Given the description of an element on the screen output the (x, y) to click on. 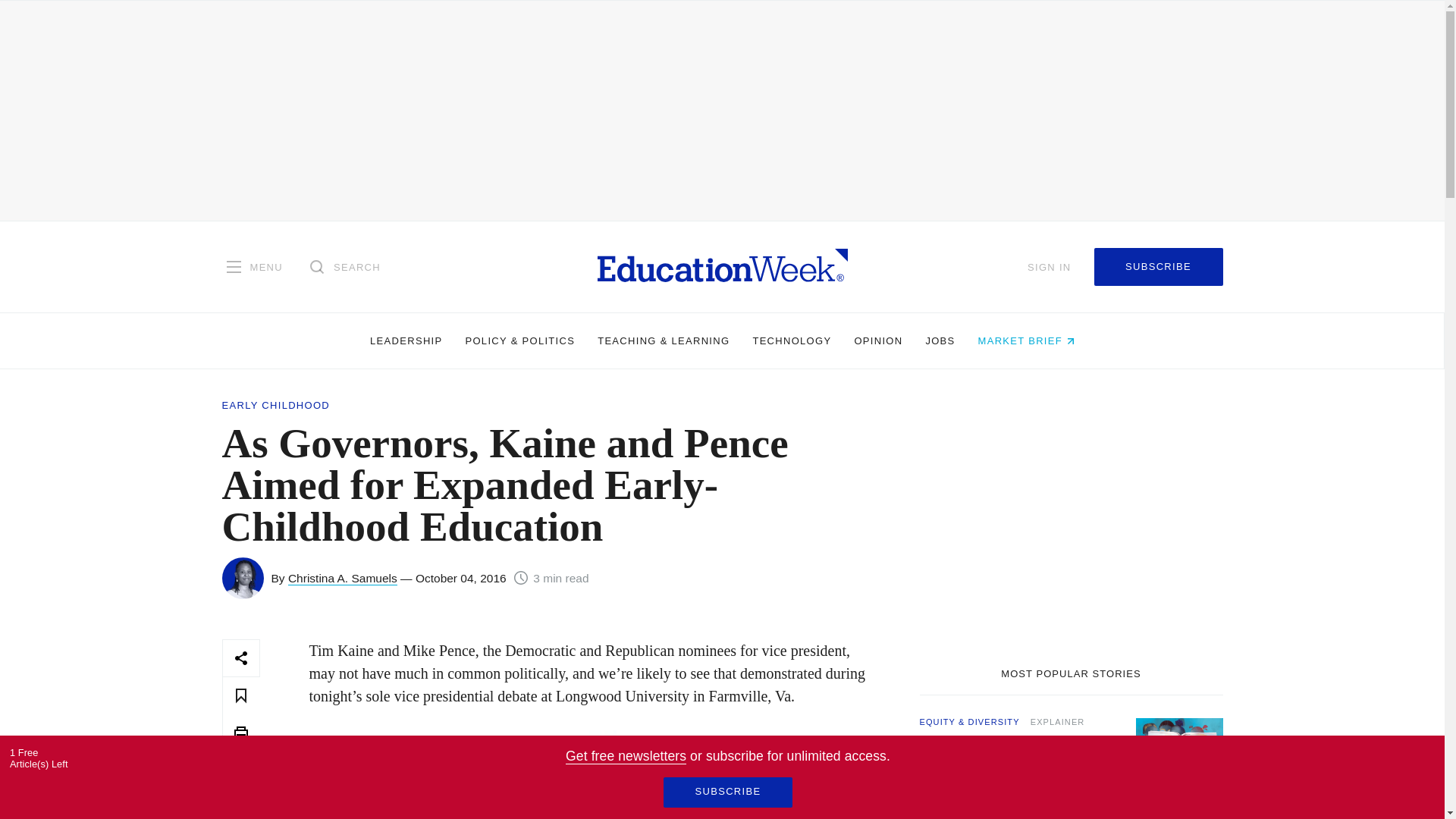
Homepage (721, 266)
